Given the description of an element on the screen output the (x, y) to click on. 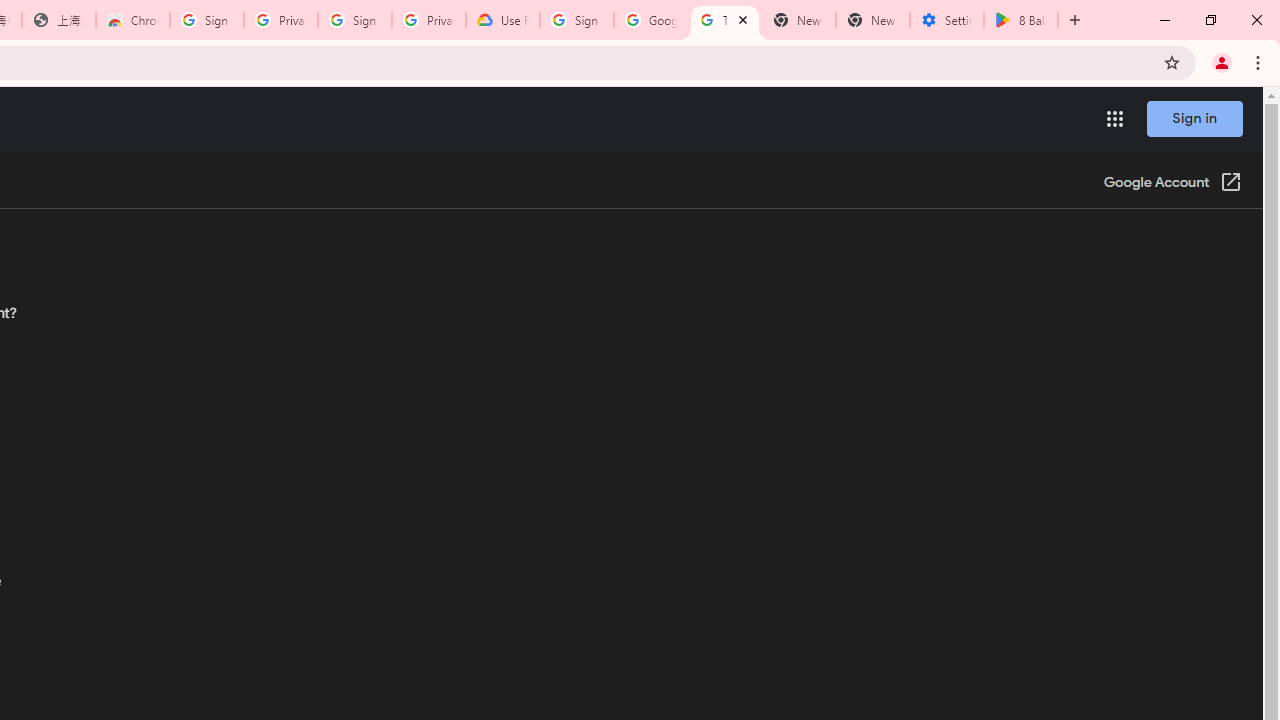
Chrome Web Store - Color themes by Chrome (133, 20)
Sign in - Google Accounts (577, 20)
Sign in - Google Accounts (207, 20)
